Given the description of an element on the screen output the (x, y) to click on. 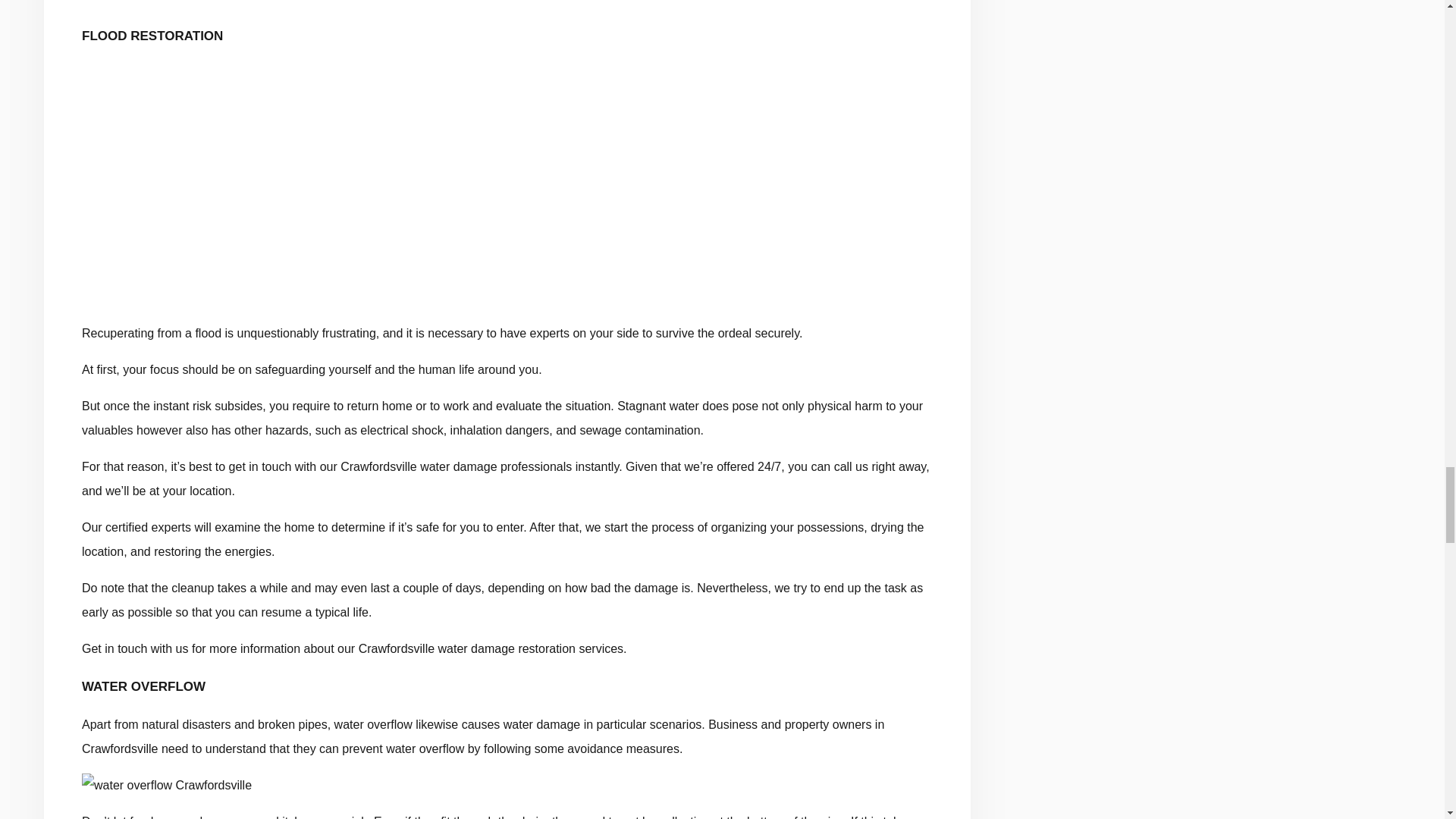
YouTube video player (507, 181)
